Given the description of an element on the screen output the (x, y) to click on. 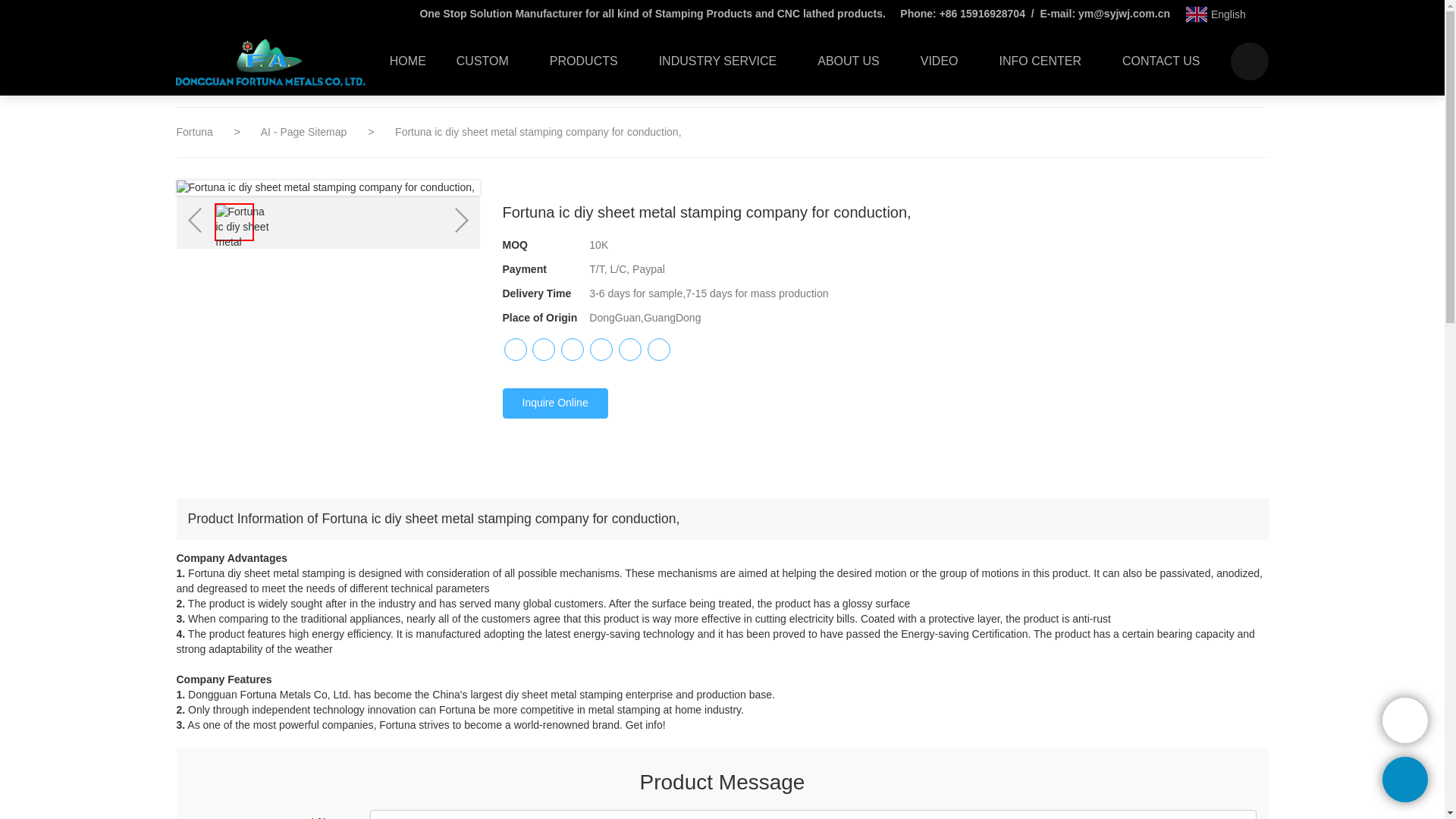
HOME (407, 61)
CUSTOM (487, 61)
PRODUCTS (588, 61)
